Given the description of an element on the screen output the (x, y) to click on. 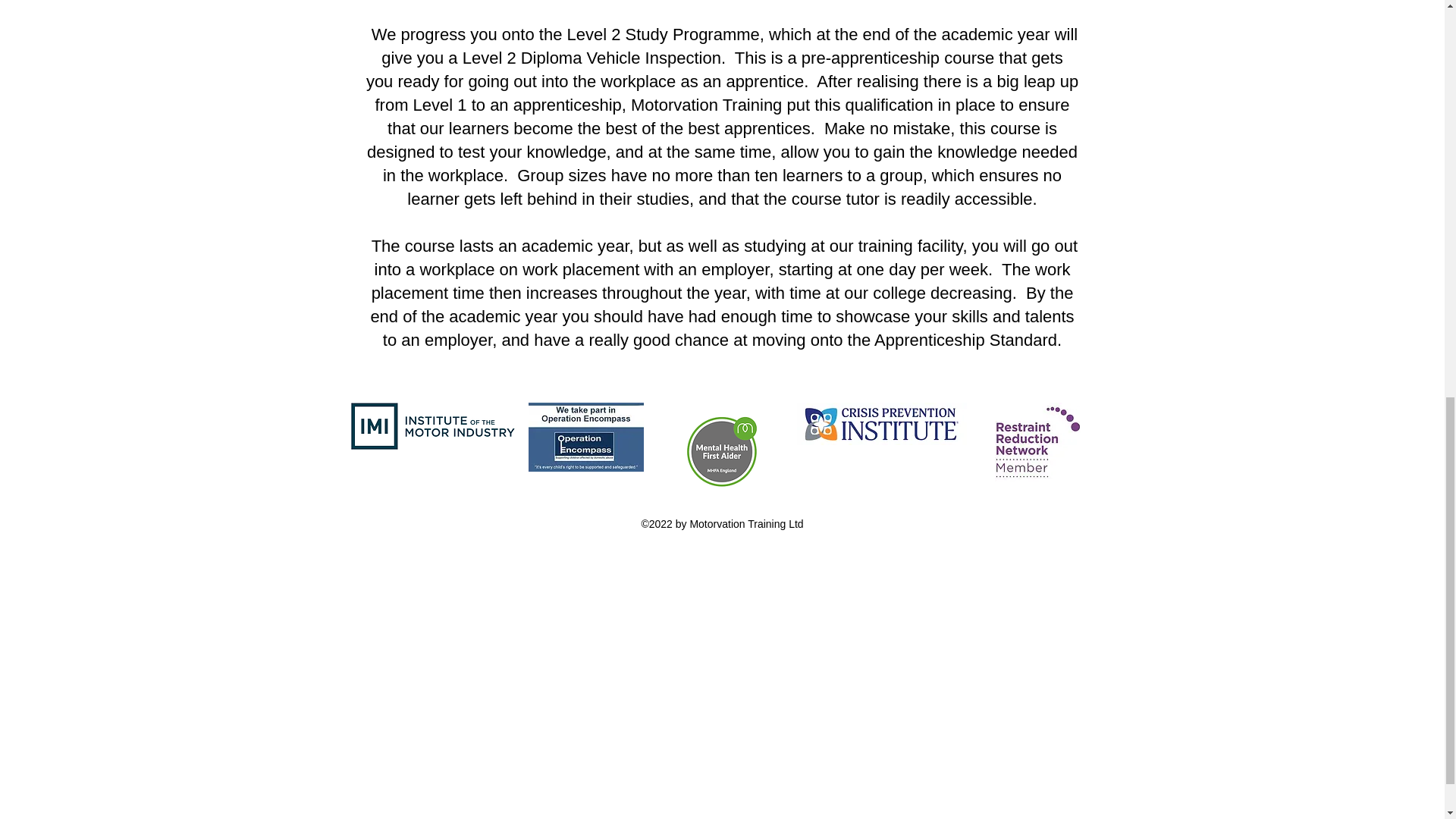
Operation Encompass.jpg (585, 436)
The IMI Logo.png (434, 426)
Mental Health First Aid.png (721, 448)
CPI Mapa.png (881, 423)
